Given the description of an element on the screen output the (x, y) to click on. 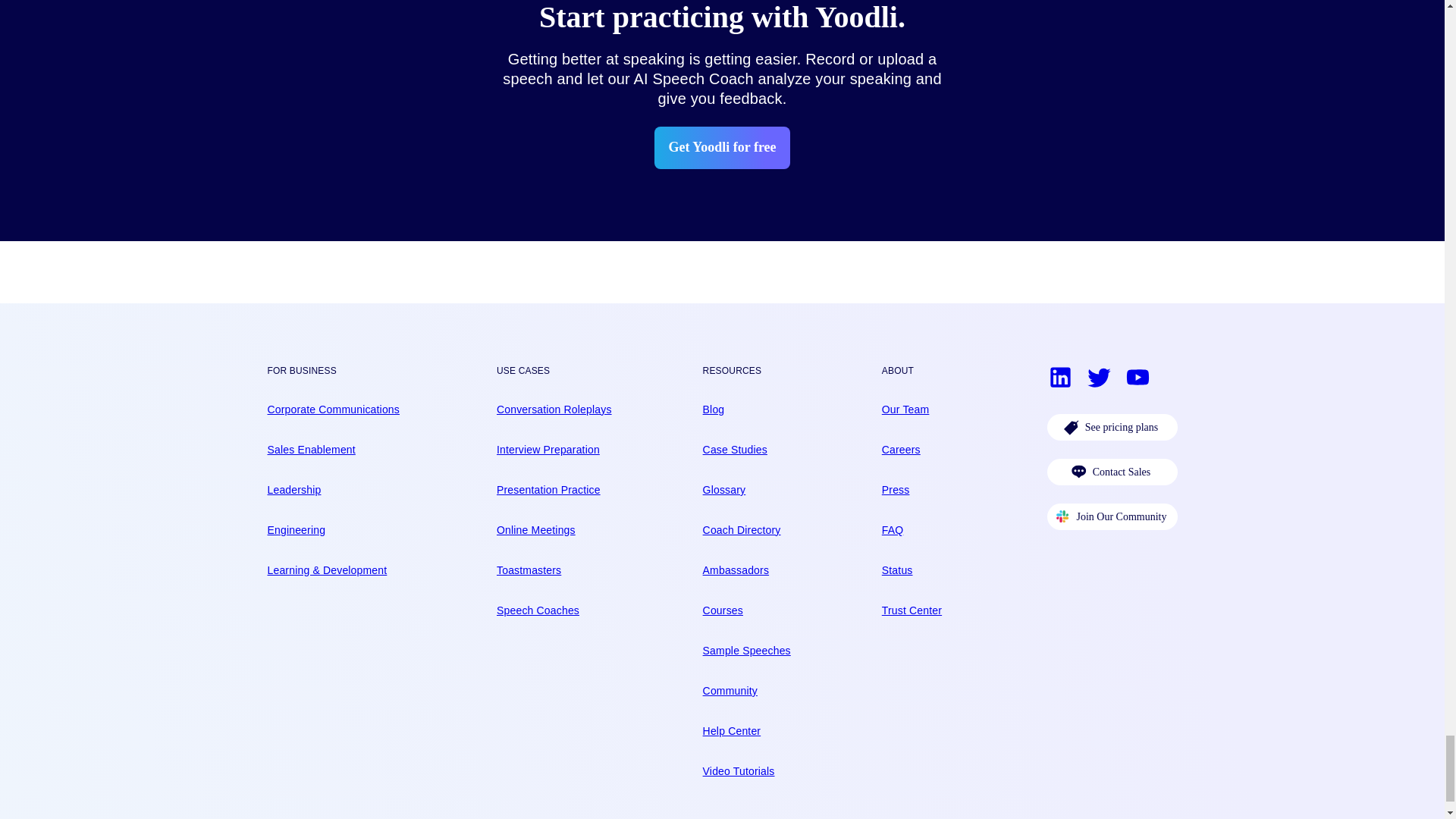
Get Yoodli for free (721, 147)
Presentation Practice (553, 489)
Online Meetings (553, 530)
Coach Directory (746, 530)
Leadership (332, 489)
Community (746, 691)
Courses (746, 610)
Sales Enablement (332, 449)
Engineering (332, 530)
Ambassadors (746, 570)
Case Studies (746, 449)
Help Center (746, 731)
Conversation Roleplays (553, 409)
Blog (746, 409)
Interview Preparation (553, 449)
